Given the description of an element on the screen output the (x, y) to click on. 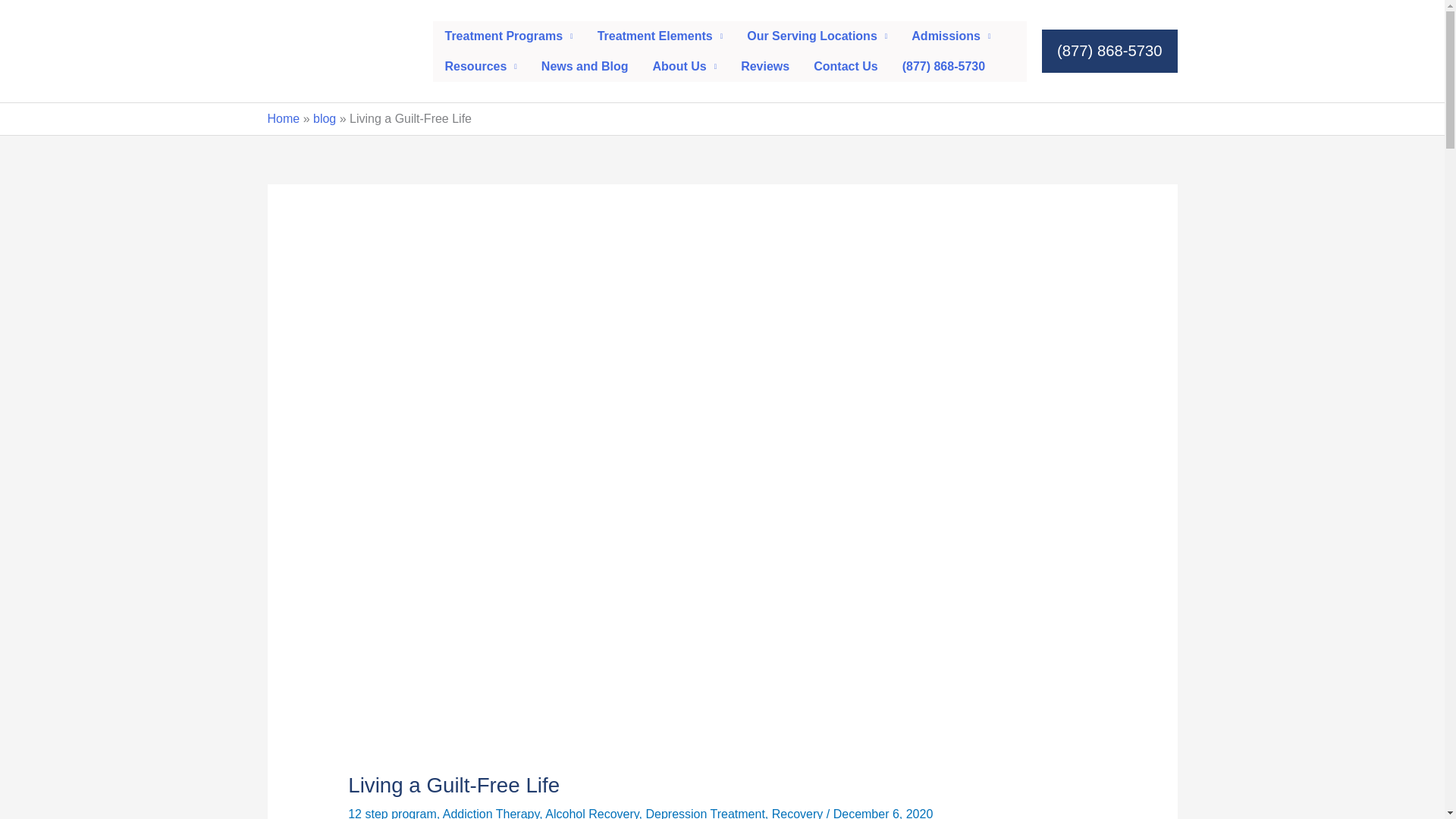
Treatment Programs (508, 36)
Treatment Elements (660, 36)
